Given the description of an element on the screen output the (x, y) to click on. 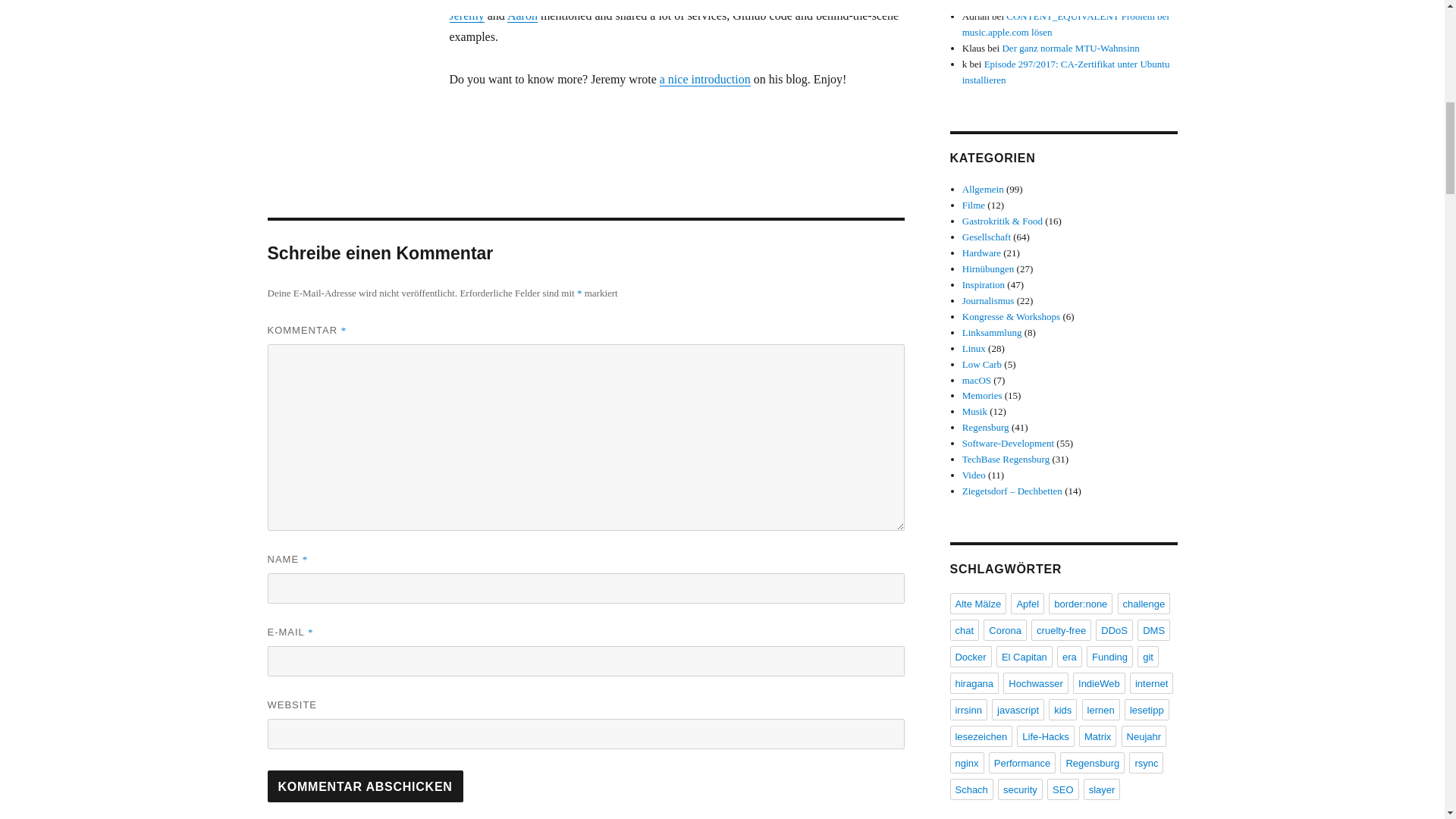
Aaron (521, 15)
Jeremy (465, 15)
Kommentar abschicken (364, 786)
Kommentar abschicken (364, 786)
a nice introduction (705, 78)
